Given the description of an element on the screen output the (x, y) to click on. 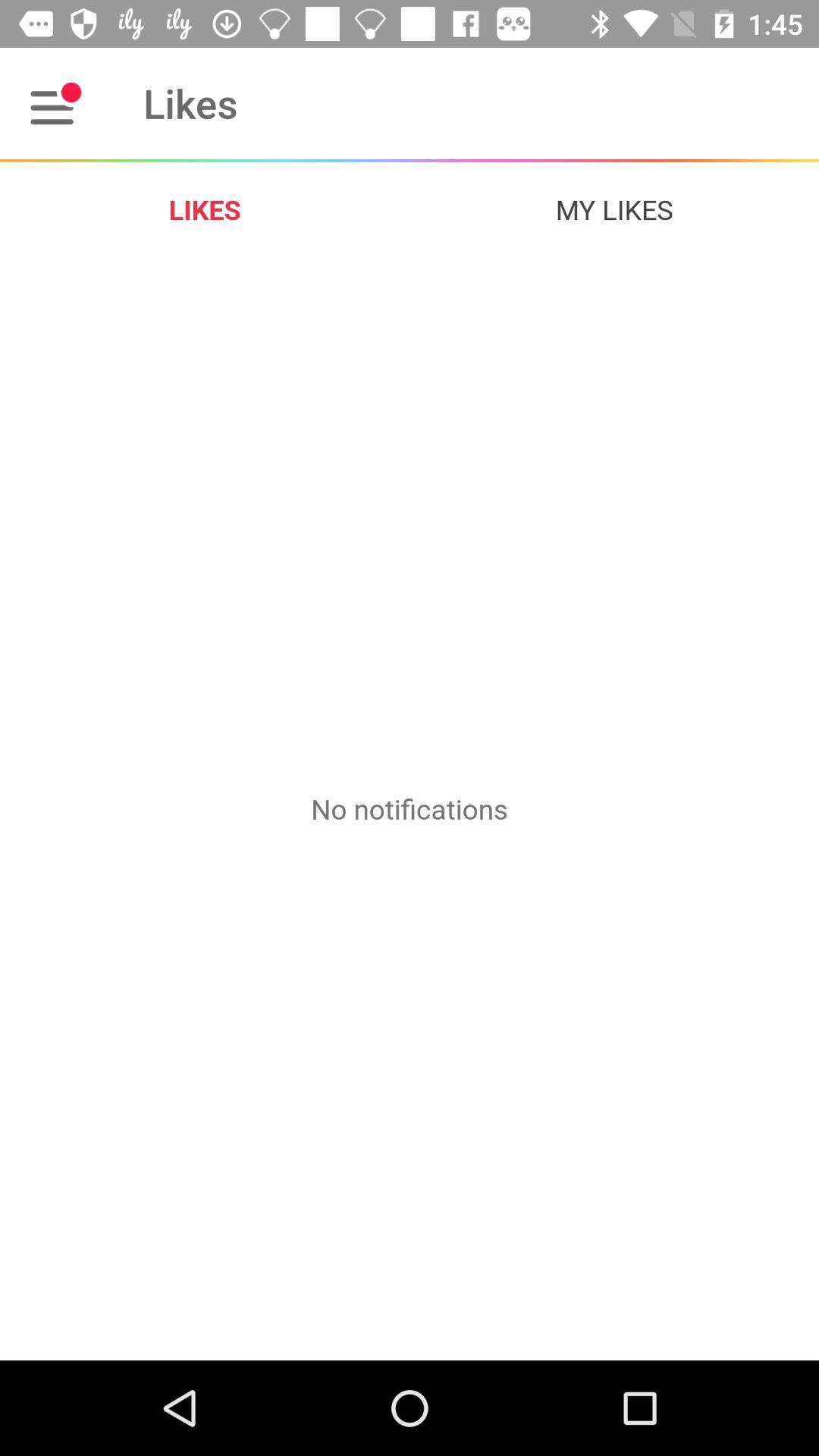
go to menu (55, 103)
